Given the description of an element on the screen output the (x, y) to click on. 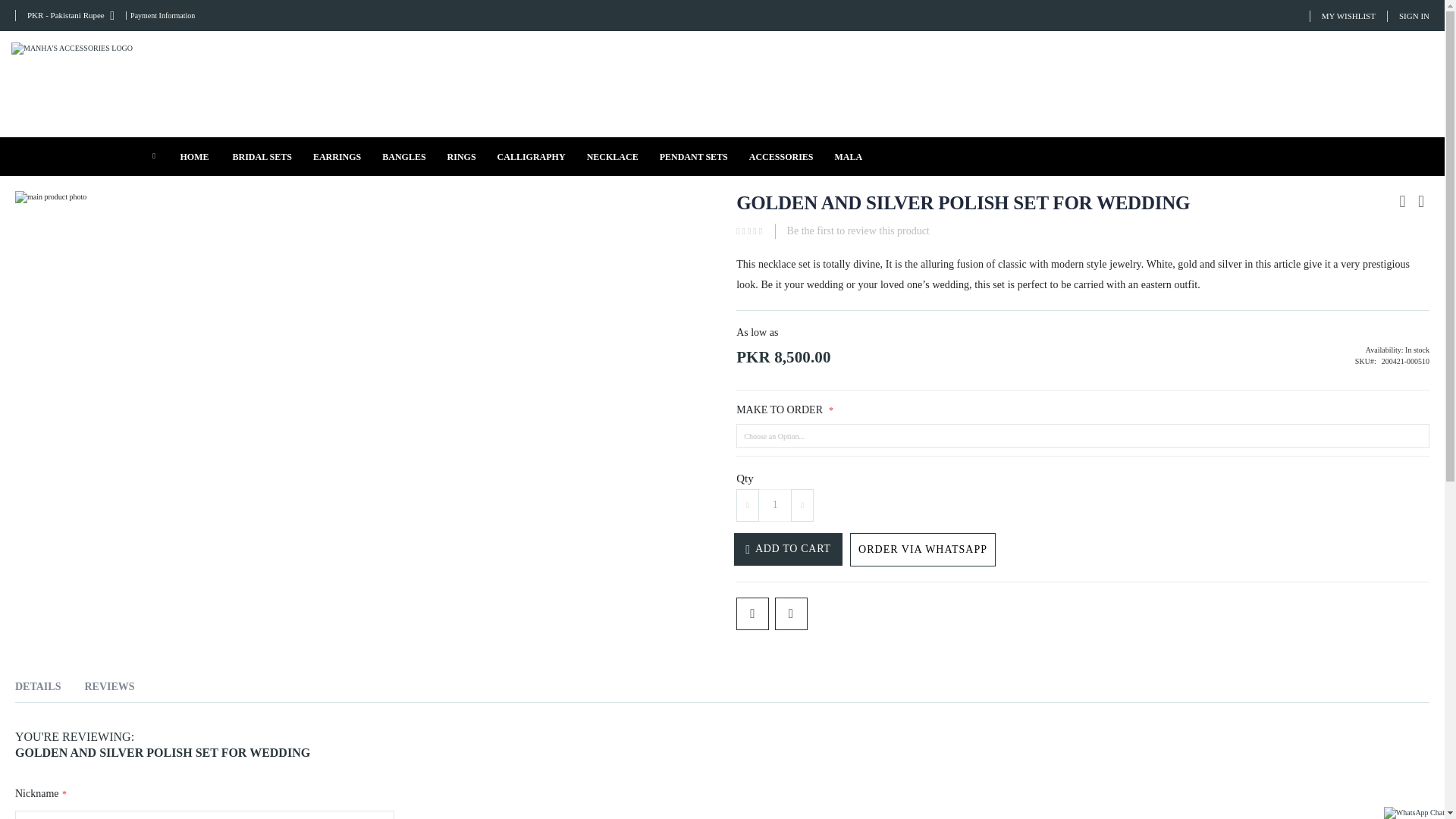
Whatsapp (922, 549)
EARRINGS (336, 155)
EARRINGS (336, 155)
CALLIGRAPHY (531, 155)
ACCESSORIES (780, 155)
Payment Information (160, 15)
ACCESSORIES (780, 155)
Availability (1274, 349)
BRIDAL SETS (260, 155)
NECKLACE (612, 155)
BRIDAL SETS (260, 155)
BANGLES (402, 155)
Previous Product (1401, 201)
RINGS (461, 155)
HOME (194, 155)
